Given the description of an element on the screen output the (x, y) to click on. 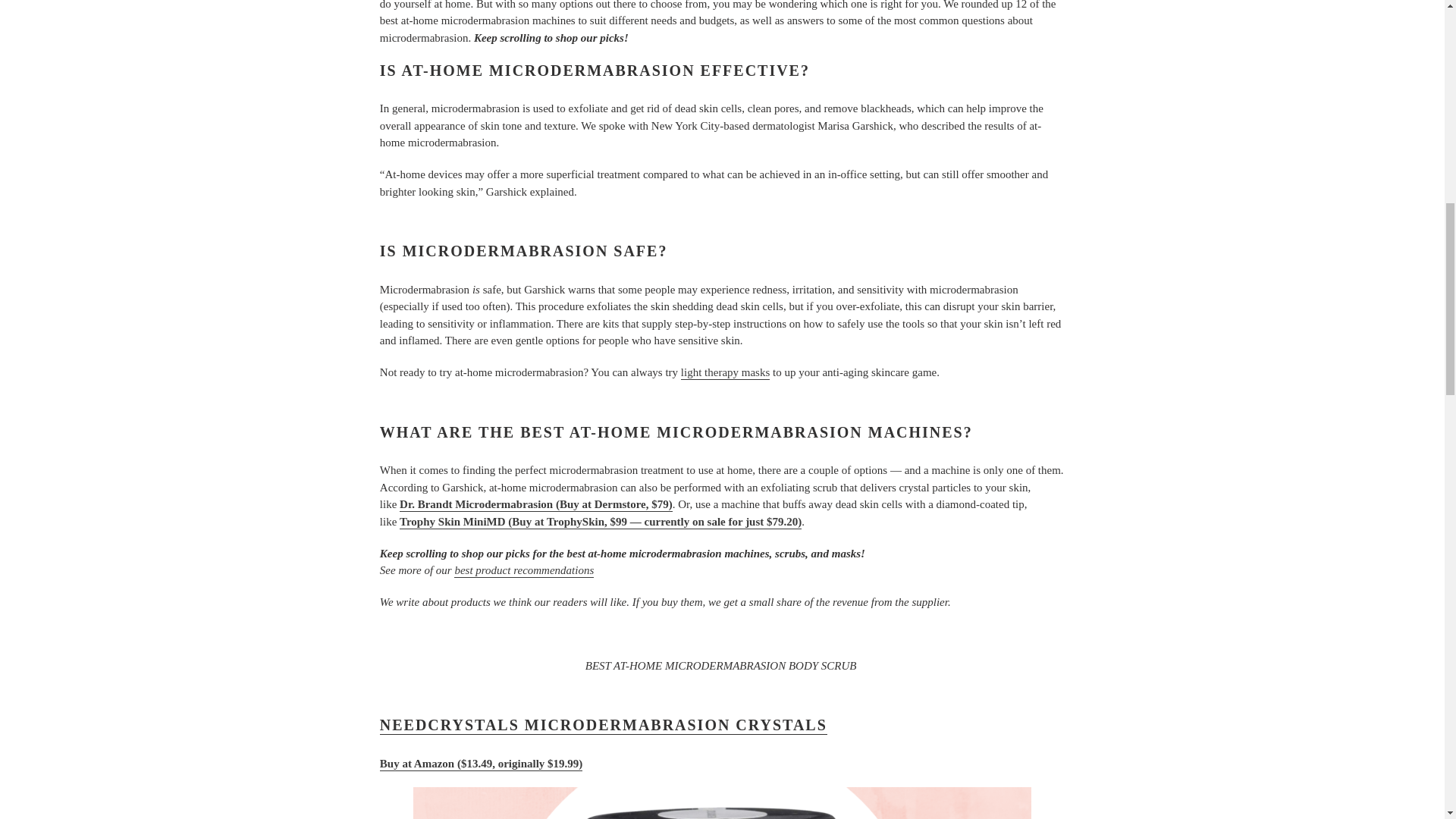
light therapy masks (725, 373)
NEEDCRYSTALS MICRODERMABRASION CRYSTALS (603, 725)
best product recommendations (524, 571)
